Given the description of an element on the screen output the (x, y) to click on. 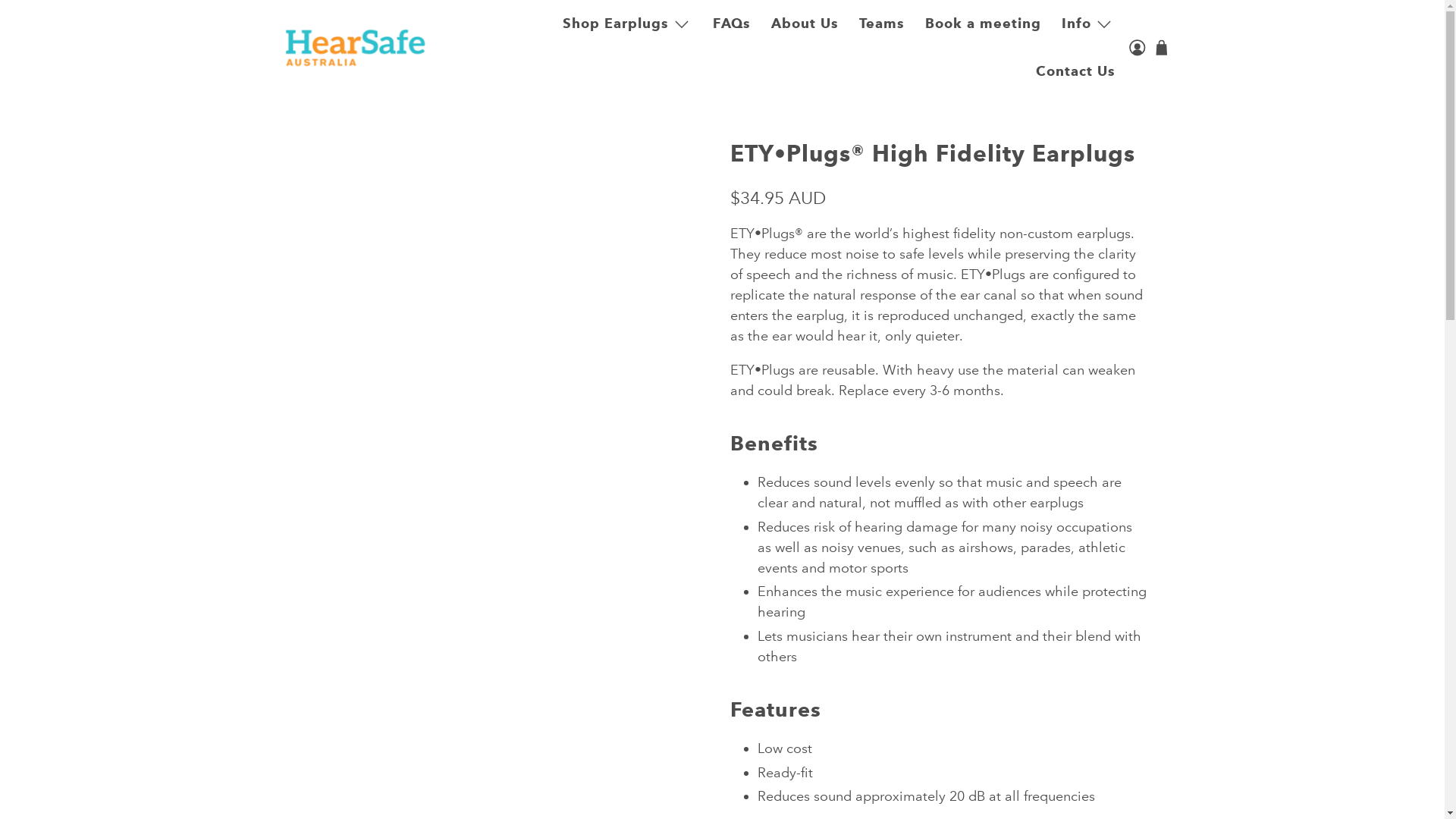
Book a meeting Element type: text (983, 23)
Hearsafe Australia Element type: hover (355, 47)
Teams Element type: text (882, 23)
Contact Us Element type: text (1075, 71)
FAQs Element type: text (731, 23)
About Us Element type: text (805, 23)
Shop Earplugs Element type: text (627, 23)
Info Element type: text (1088, 23)
